Given the description of an element on the screen output the (x, y) to click on. 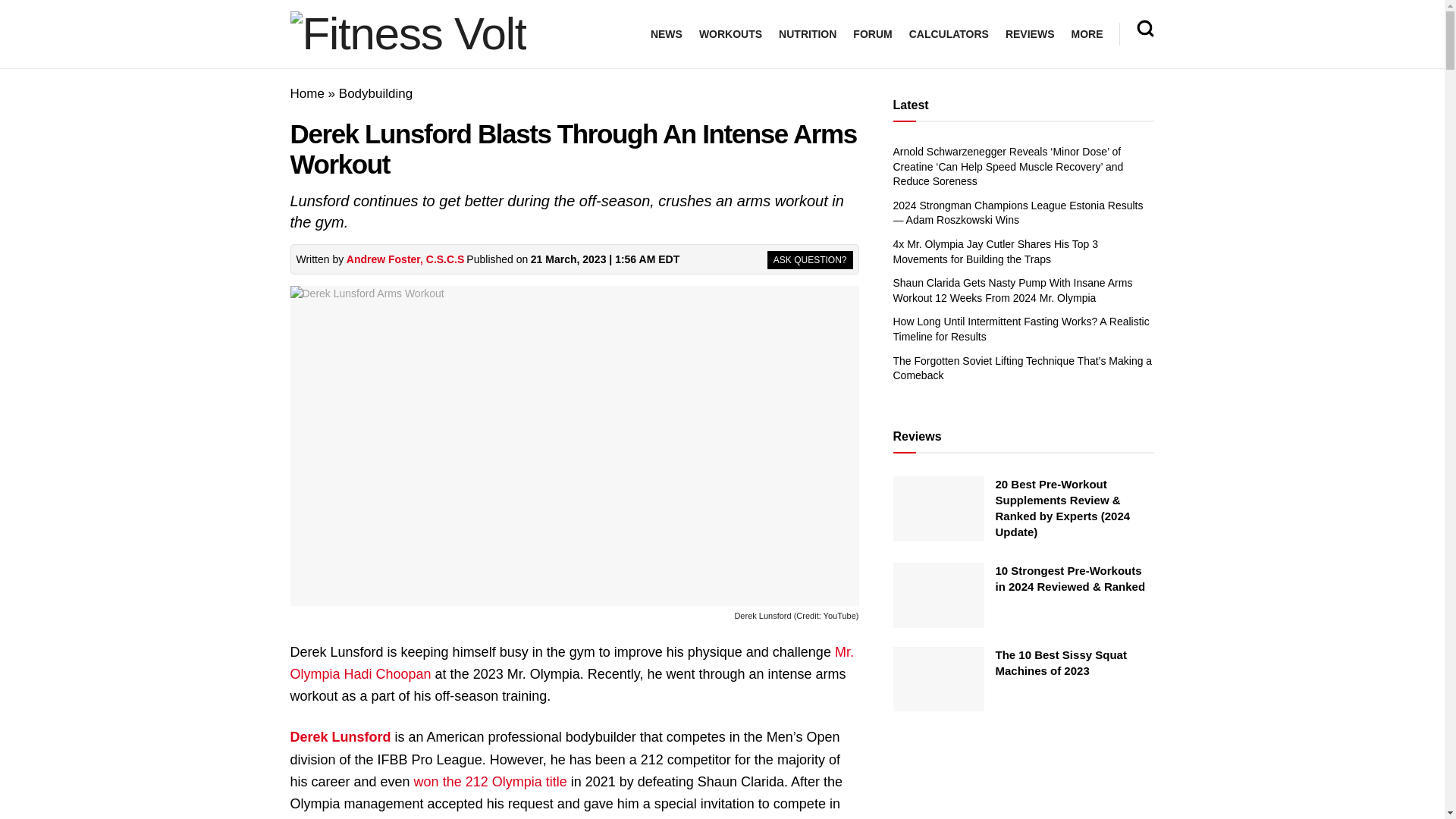
NUTRITION (806, 34)
WORKOUTS (729, 34)
REVIEWS (1030, 34)
CALCULATORS (948, 34)
MORE (1086, 34)
NEWS (666, 34)
FORUM (872, 34)
